Given the description of an element on the screen output the (x, y) to click on. 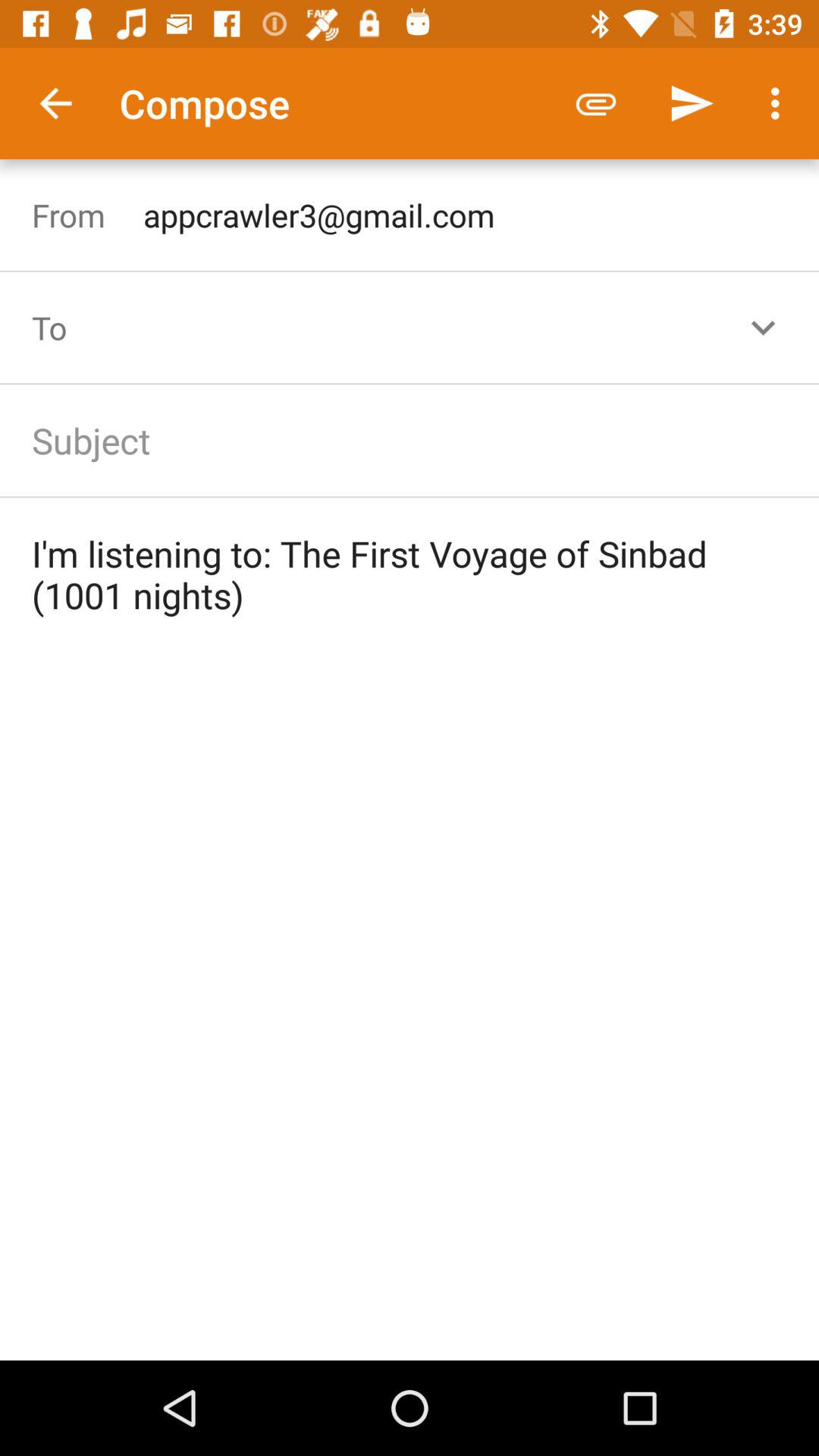
tap item next to the compose icon (595, 103)
